Given the description of an element on the screen output the (x, y) to click on. 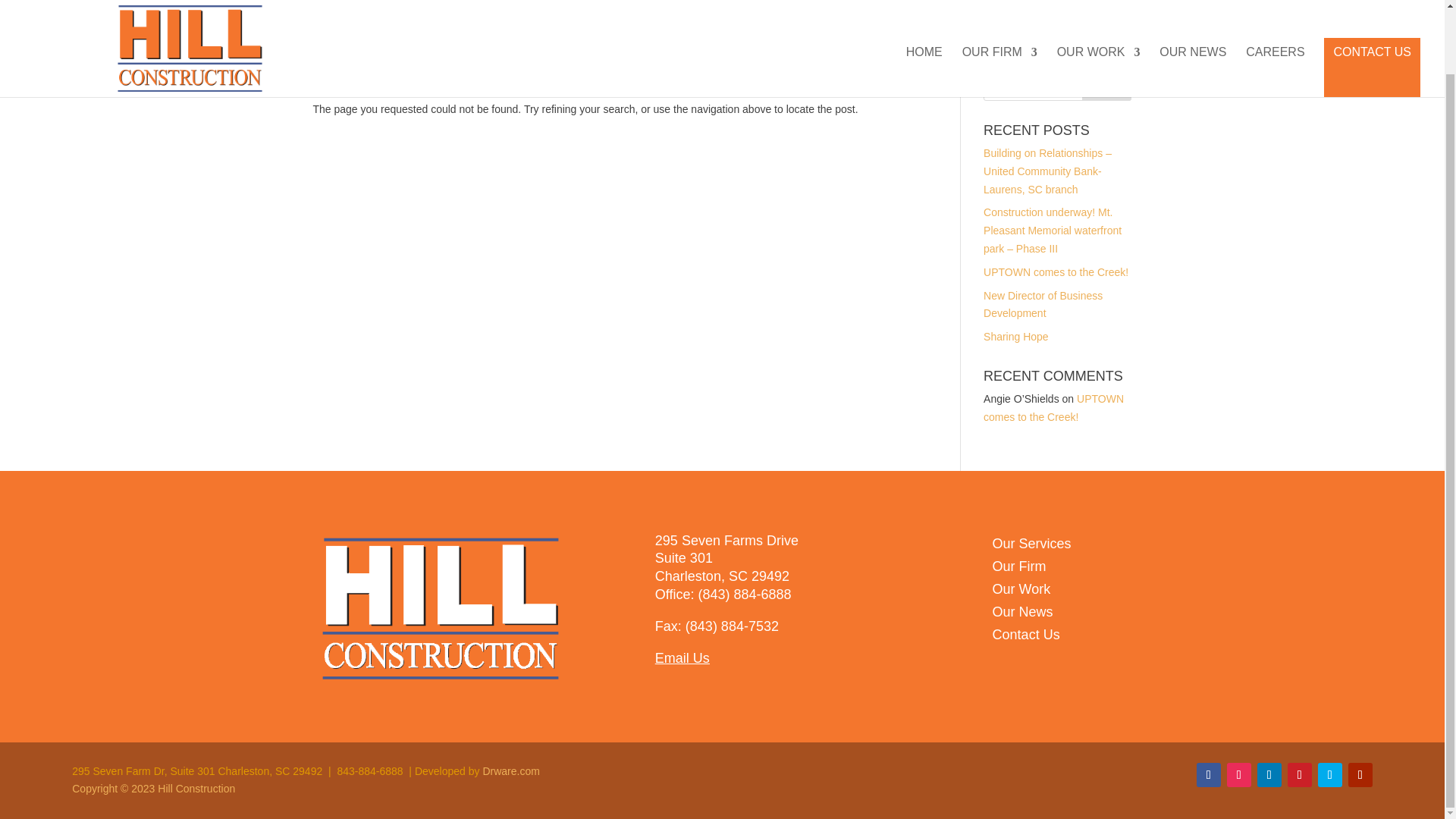
Follow on Youtube (1360, 774)
Search (1106, 85)
Follow on LinkedIn (1269, 774)
Follow on Pinterest (1299, 774)
OUR NEWS (1191, 12)
Follow on Instagram (1238, 774)
footerLogo (440, 607)
Follow on Facebook (1208, 774)
HOME (923, 12)
OUR WORK (1098, 12)
